Given the description of an element on the screen output the (x, y) to click on. 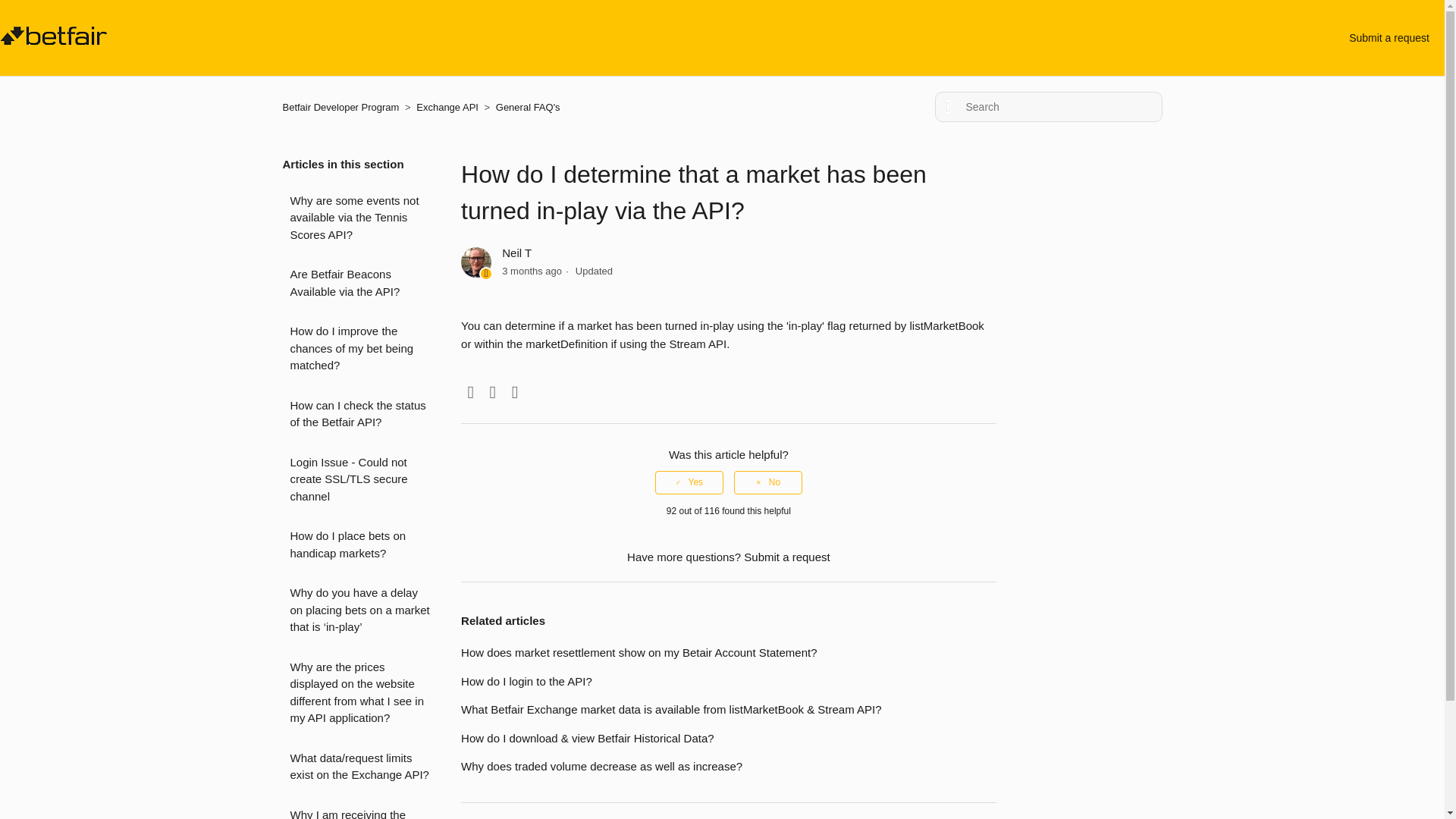
No (767, 481)
How can I check the status of the Betfair API? (360, 413)
How do I improve the chances of my bet being matched? (360, 348)
General FAQ's (528, 107)
Why are some events not available via the Tennis Scores API? (360, 218)
How do I login to the API? (526, 680)
Betfair Developers (53, 40)
Exchange API (447, 107)
Facebook (470, 393)
Exchange API (441, 107)
General FAQ's (520, 107)
Betfair Developer Program (341, 107)
LinkedIn (514, 393)
Submit a request (786, 556)
